Given the description of an element on the screen output the (x, y) to click on. 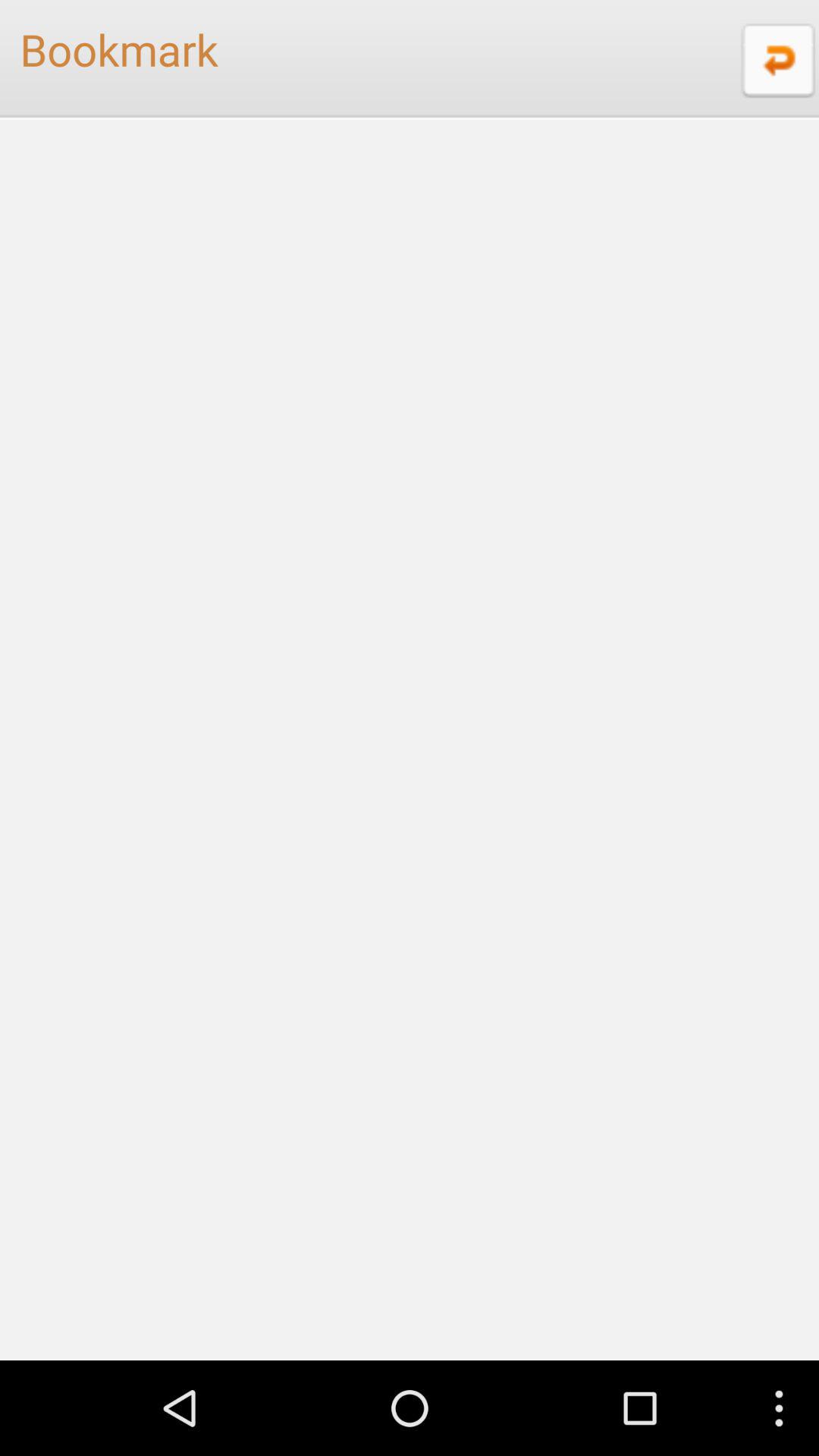
press item at the center (409, 739)
